Given the description of an element on the screen output the (x, y) to click on. 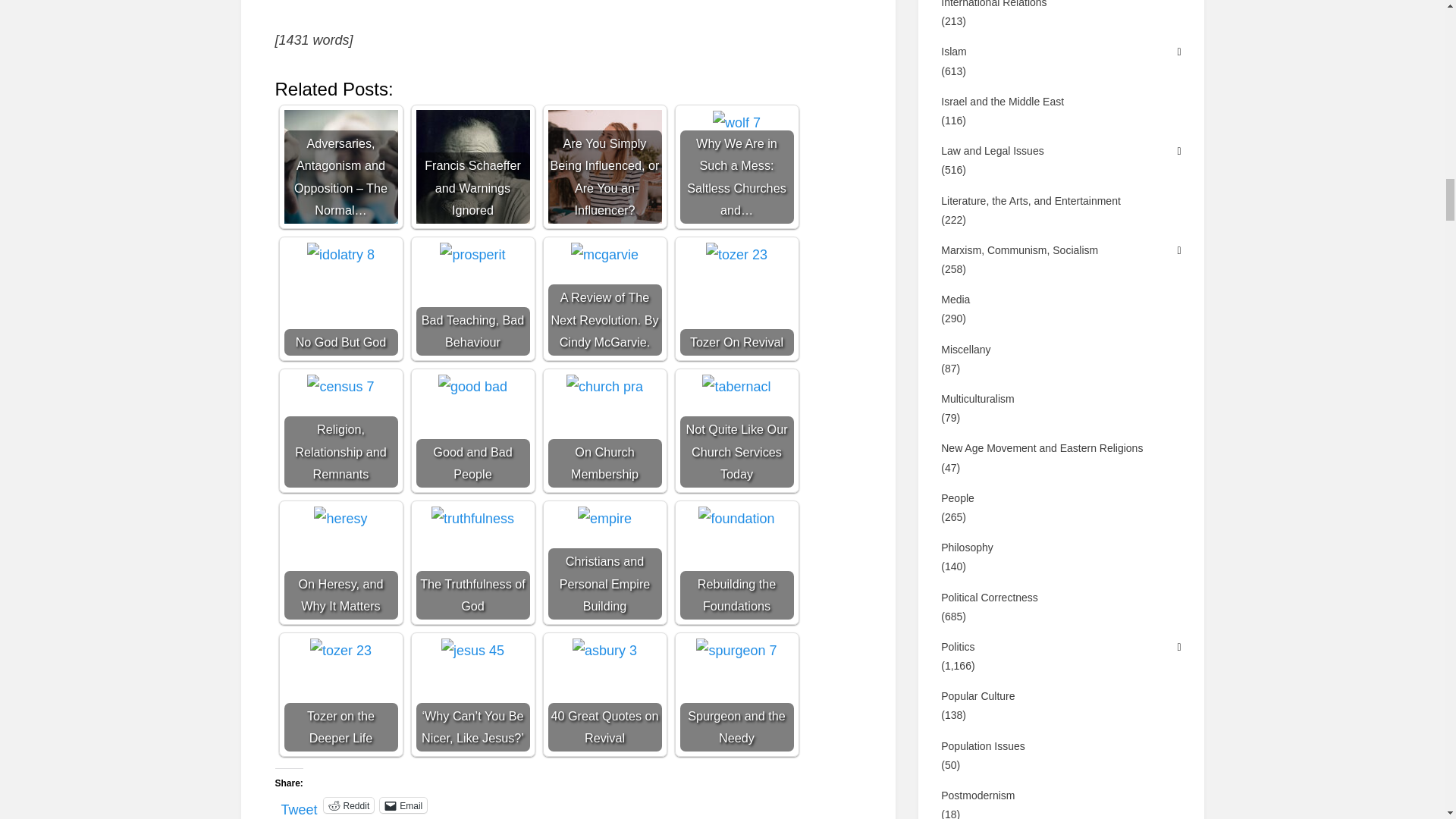
The Truthfulness of God (471, 562)
Are You Simply Being Influenced, or Are You an Influencer? (604, 166)
Christians and Personal Empire Building (604, 562)
Reddit (348, 805)
Religion, Relationship and Remnants (340, 386)
On Church Membership (604, 386)
Not Quite Like Our Church Services Today (735, 386)
On Heresy, and Why It Matters (340, 562)
On Heresy, and Why It Matters (340, 518)
Good and Bad People (471, 430)
Religion, Relationship and Remnants (340, 430)
Spurgeon and the Needy (736, 694)
Bad Teaching, Bad Behaviour (472, 254)
Tozer On Revival (736, 298)
Tozer On Revival (736, 254)
